Given the description of an element on the screen output the (x, y) to click on. 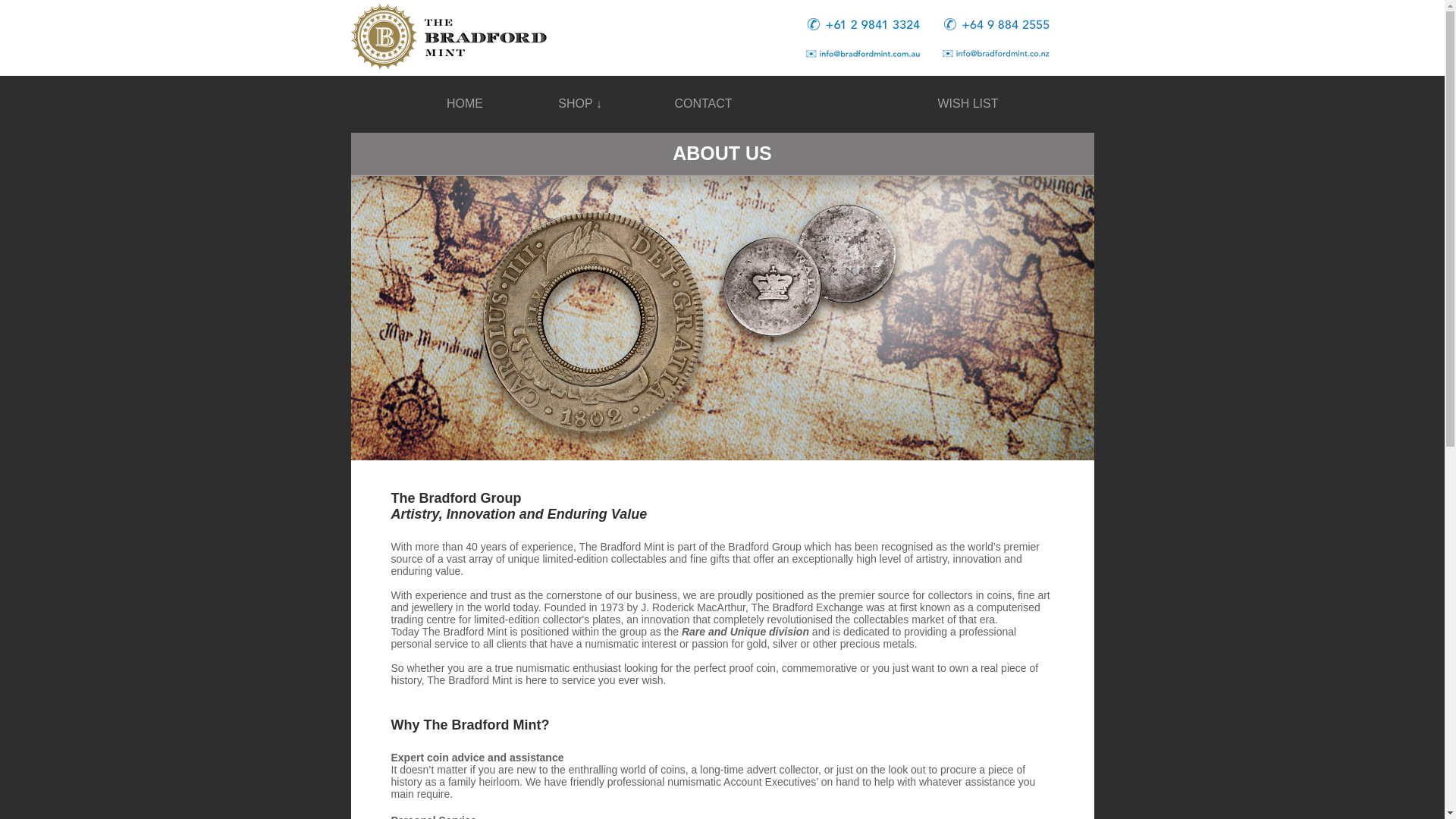
Email Us (861, 52)
CONTACT (703, 103)
Email Us (998, 52)
Phone Us (998, 24)
WISH LIST (967, 103)
ABOUT US (834, 103)
Phone Us (861, 24)
HOME (465, 103)
